Given the description of an element on the screen output the (x, y) to click on. 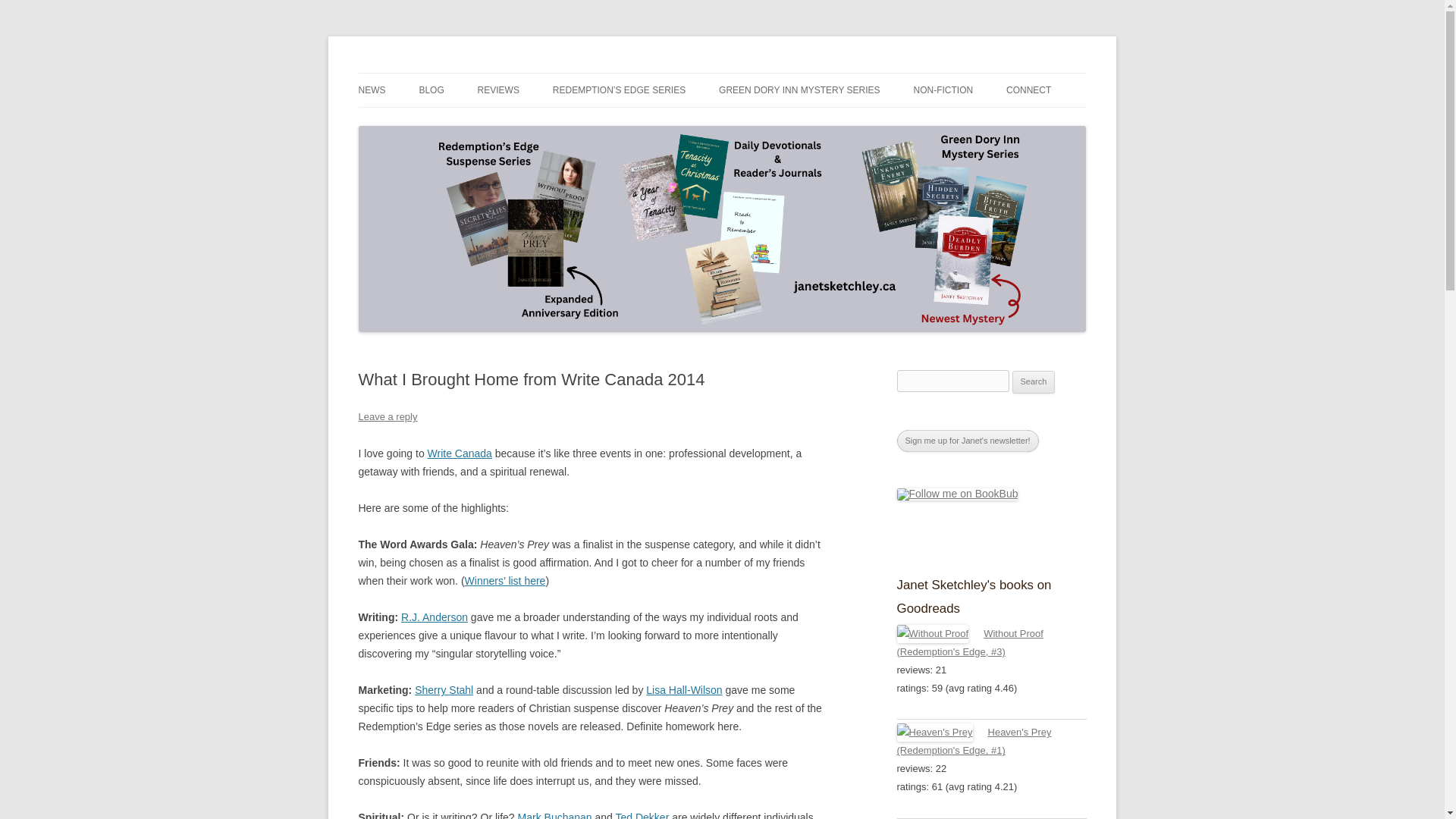
CONNECT (1028, 90)
ABOUT (1081, 122)
Search (1033, 382)
Mark Buchanan (555, 815)
FICTION (552, 122)
REVIEWS (498, 90)
UNKNOWN ENEMY (794, 122)
A YEAR OF TENACITY: 365 DAILY DEVOTIONS (988, 131)
GREEN DORY INN MYSTERY SERIES (799, 90)
